Given the description of an element on the screen output the (x, y) to click on. 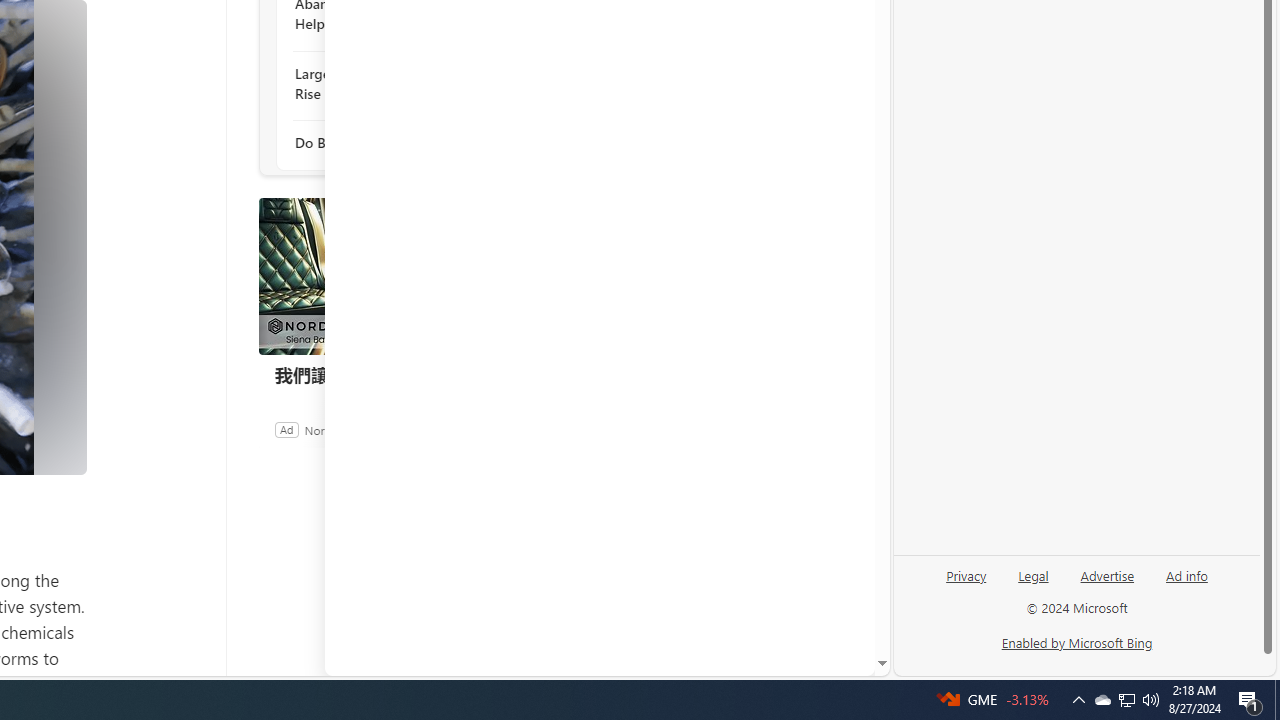
Nordace (326, 429)
Privacy (966, 583)
Largest Prediction Of Sea-Level Rise Unlikely Says Scientist (403, 83)
Privacy (965, 574)
Ad Choice (535, 429)
Legal (1033, 574)
Legal (1033, 583)
Ad info (1186, 583)
